Given the description of an element on the screen output the (x, y) to click on. 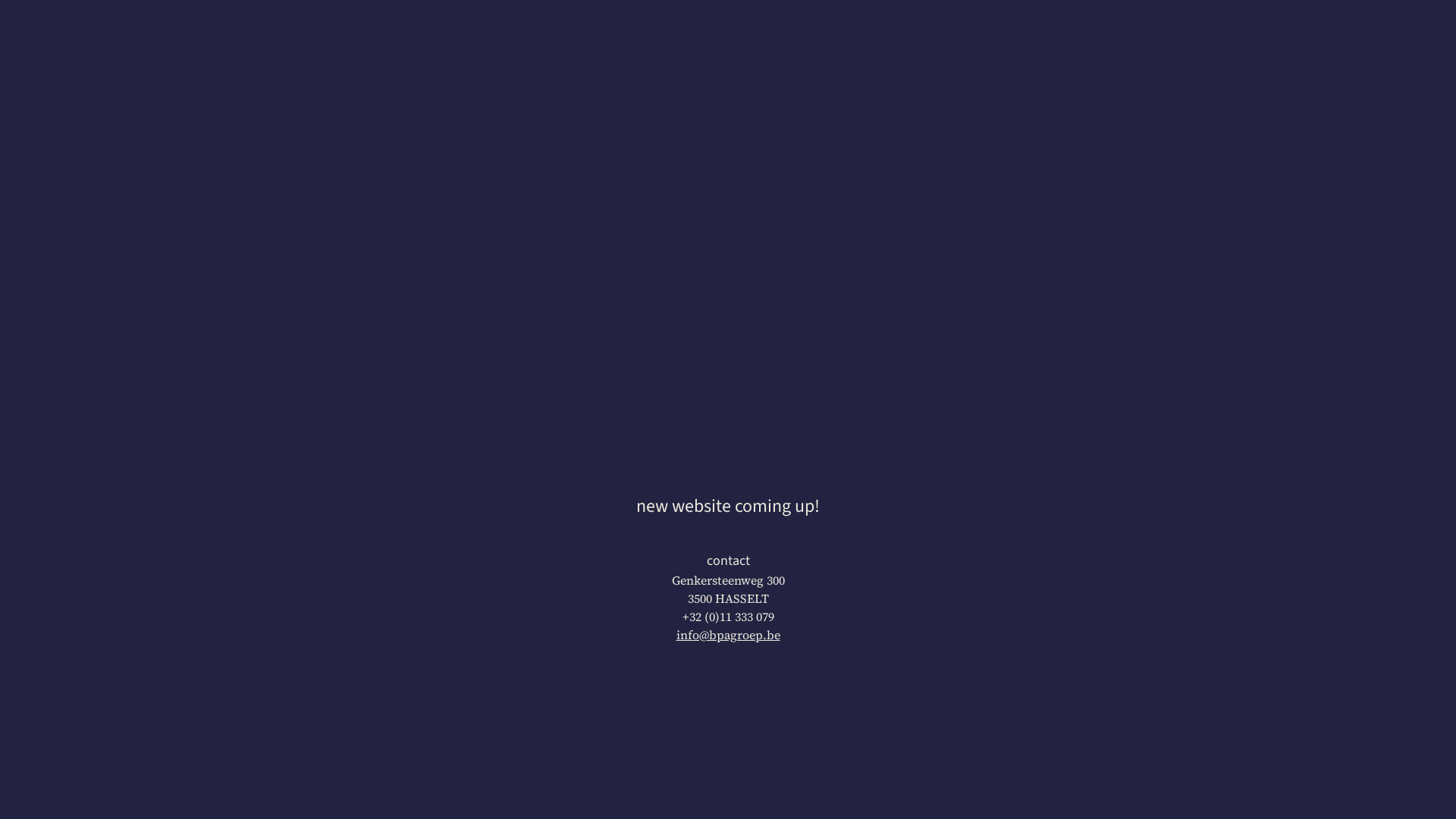
info@bpagroep.be Element type: text (728, 634)
